Given the description of an element on the screen output the (x, y) to click on. 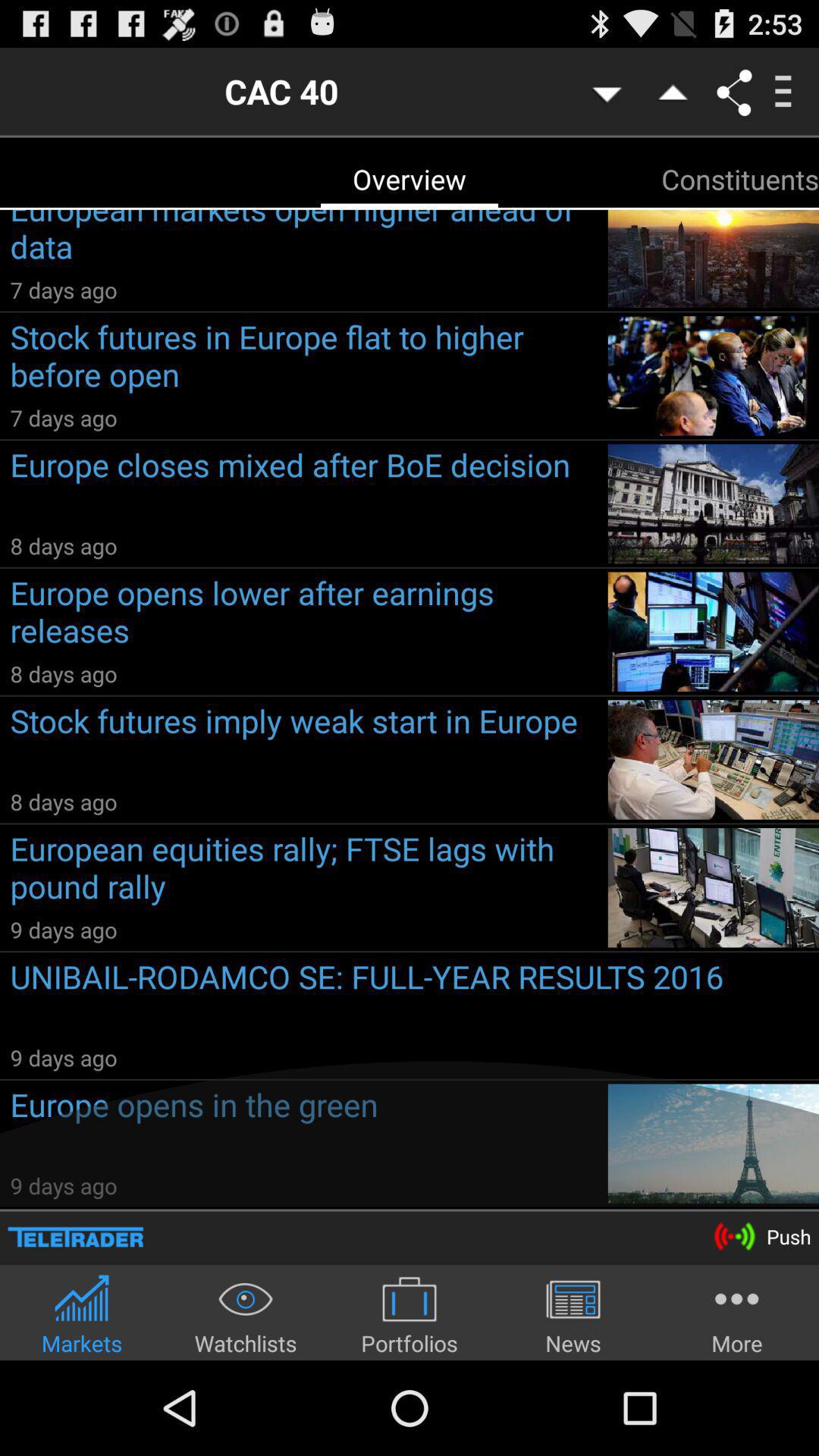
choose the icon to the left of more item (573, 1314)
